Given the description of an element on the screen output the (x, y) to click on. 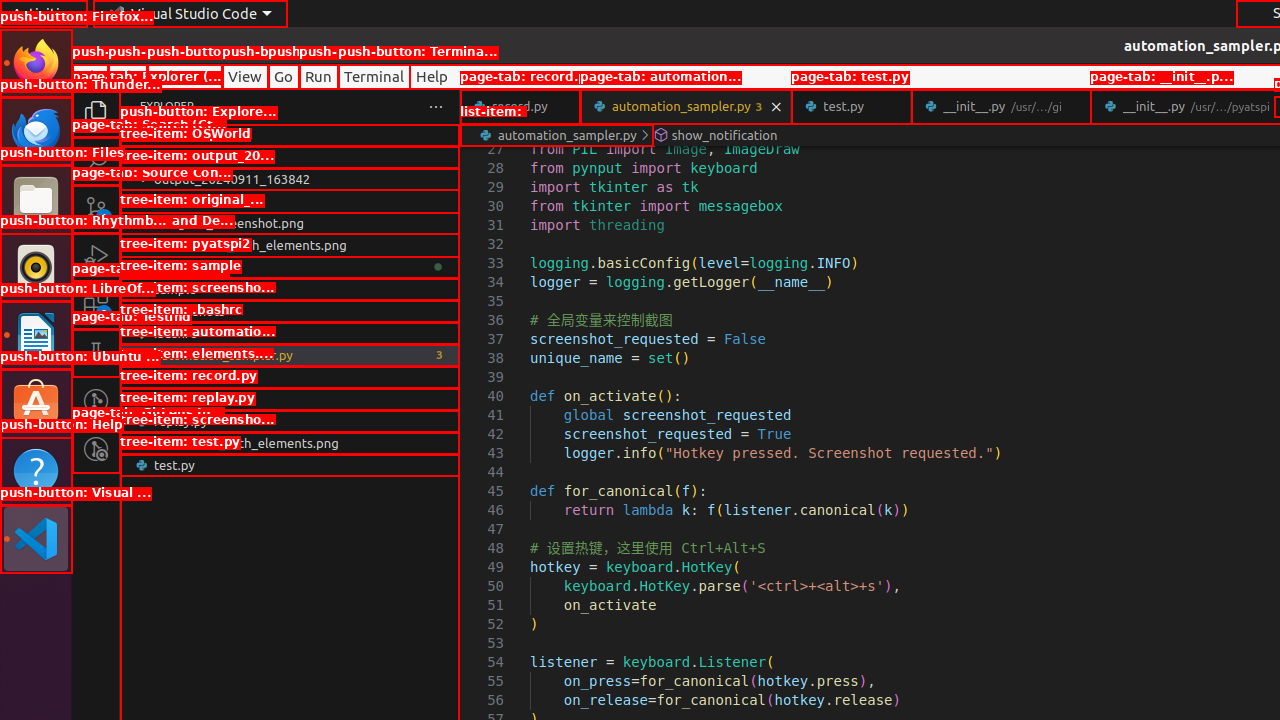
record.py Element type: page-tab (520, 106)
Run and Debug (Ctrl+Shift+D) Element type: page-tab (96, 257)
test.py Element type: page-tab (851, 106)
test.py Element type: tree-item (289, 465)
Selection Element type: push-button (184, 76)
